Given the description of an element on the screen output the (x, y) to click on. 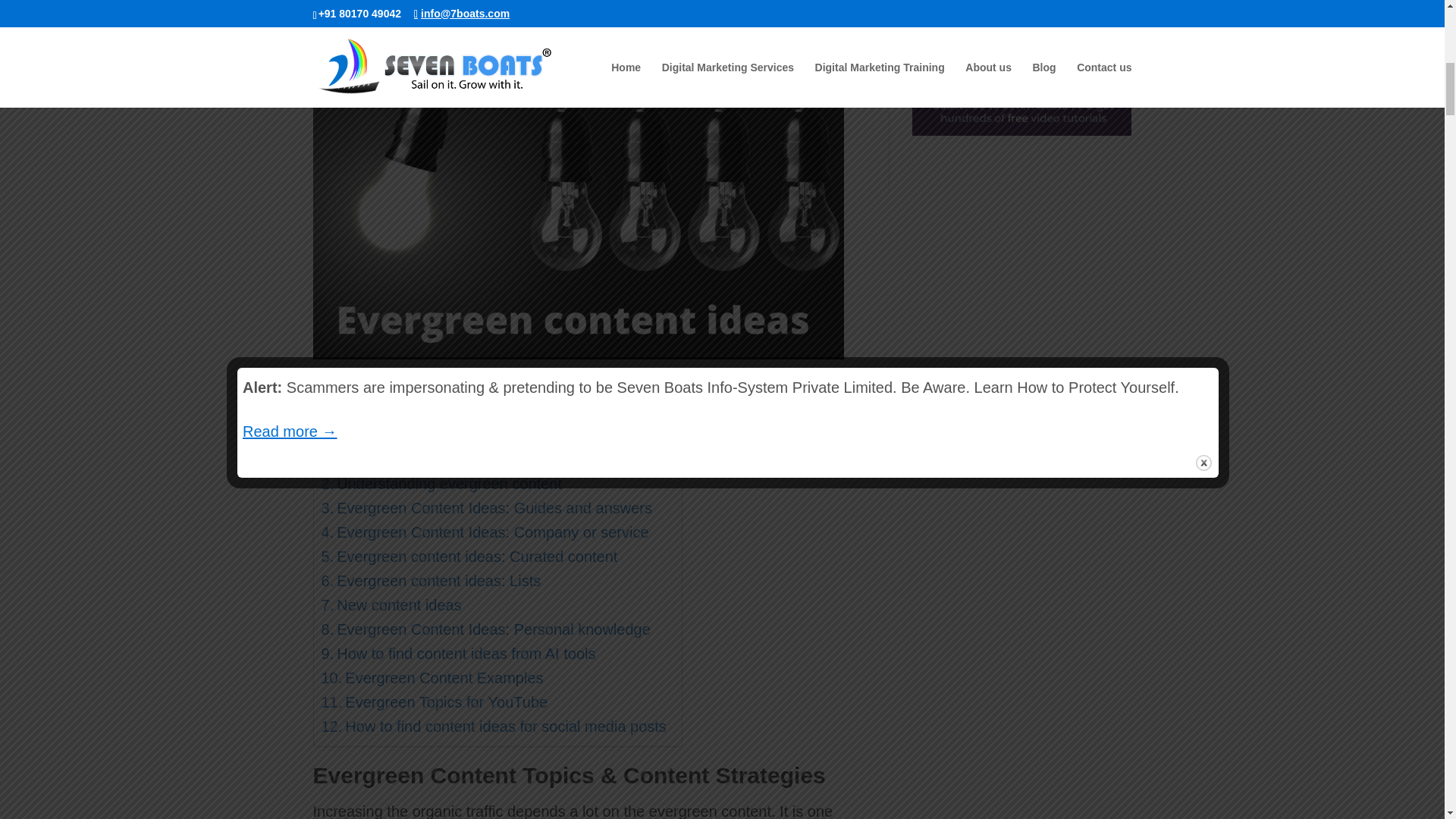
Evergreen content ideas: Lists (431, 580)
How to find content ideas from AI tools (458, 653)
New content ideas (391, 604)
Evergreen Content Ideas: Company or service (485, 532)
Evergreen Content Ideas: Guides and answers (486, 508)
Evergreen Content Ideas: Company or service (485, 532)
Understanding evergreen content (441, 483)
Understanding evergreen content (441, 483)
Evergreen content ideas: Curated content (469, 556)
New content ideas (391, 604)
Evergreen Topics for YouTube (434, 702)
Evergreen Content Examples (432, 677)
Evergreen Content Ideas: Personal knowledge (485, 629)
How to find content ideas from AI tools (458, 653)
Evergreen Content Ideas: Guides and answers (486, 508)
